Given the description of an element on the screen output the (x, y) to click on. 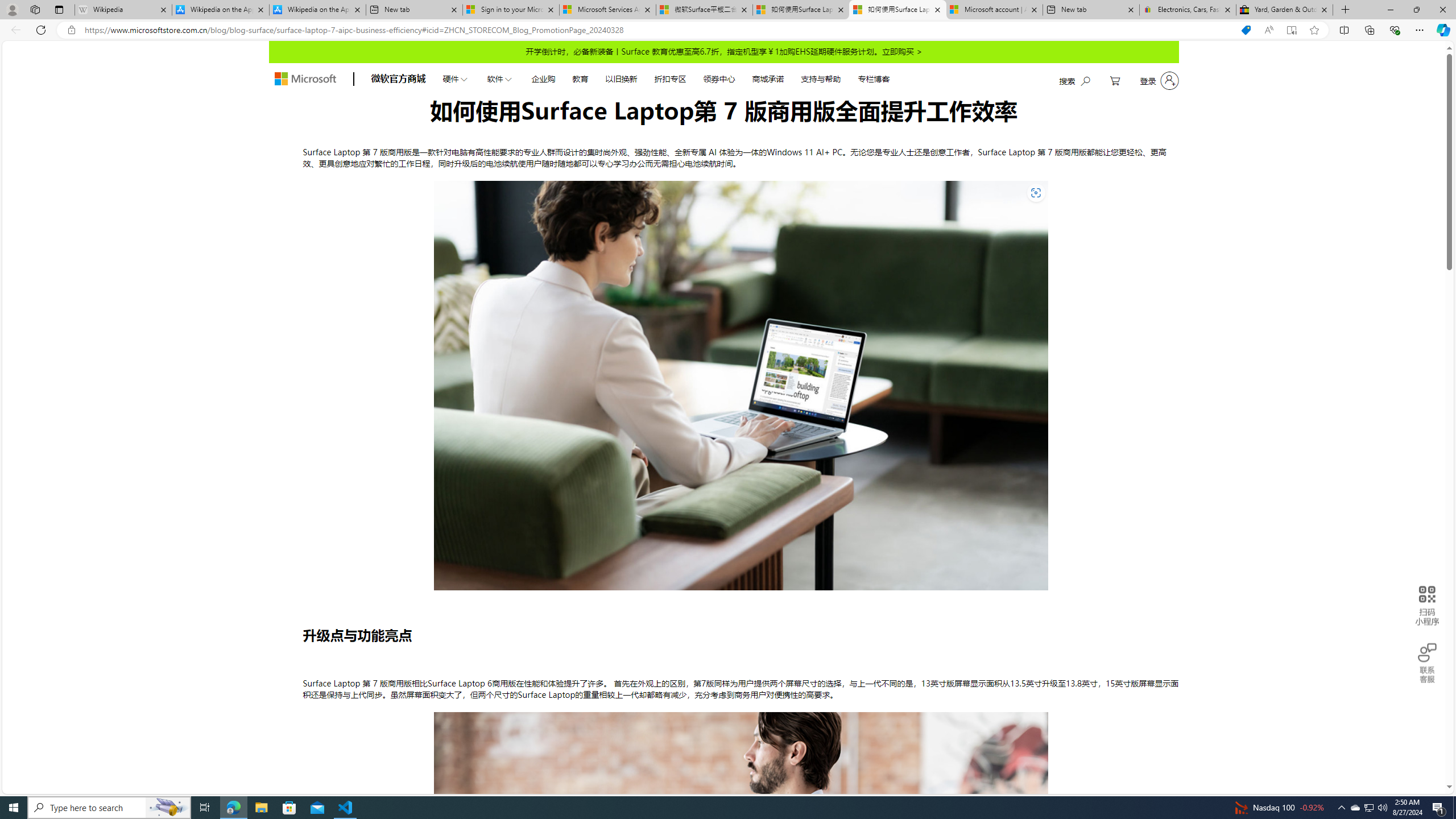
AutomationID: autoNav (665, 78)
Microsoft (304, 78)
